Given the description of an element on the screen output the (x, y) to click on. 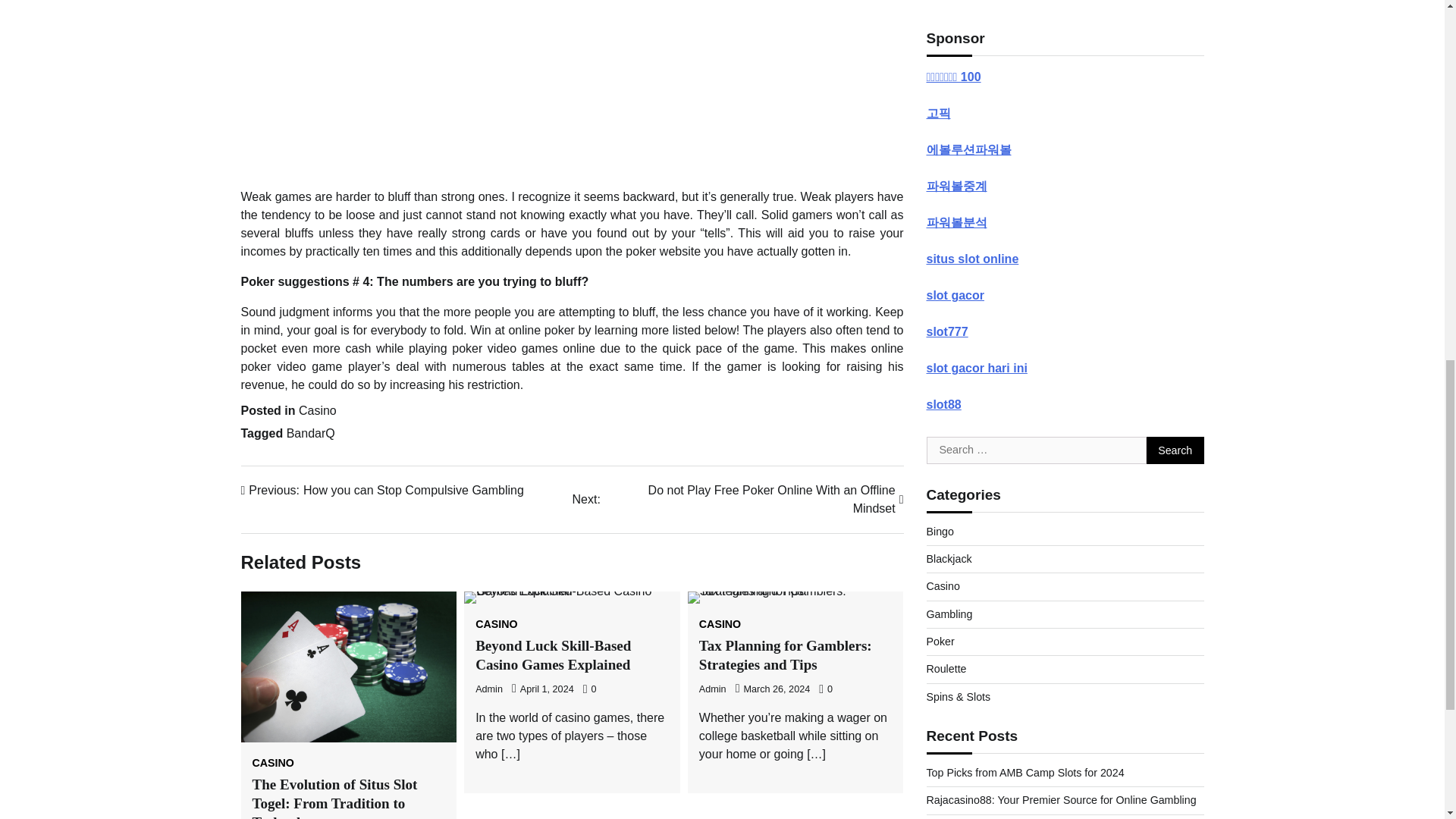
Poker Tips on Bluffing Revealed! (572, 84)
Tax Planning for Gamblers: Strategies and Tips (785, 655)
CASINO (719, 624)
BandarQ (310, 432)
Admin (737, 499)
CASINO (382, 490)
CASINO (489, 688)
